Given the description of an element on the screen output the (x, y) to click on. 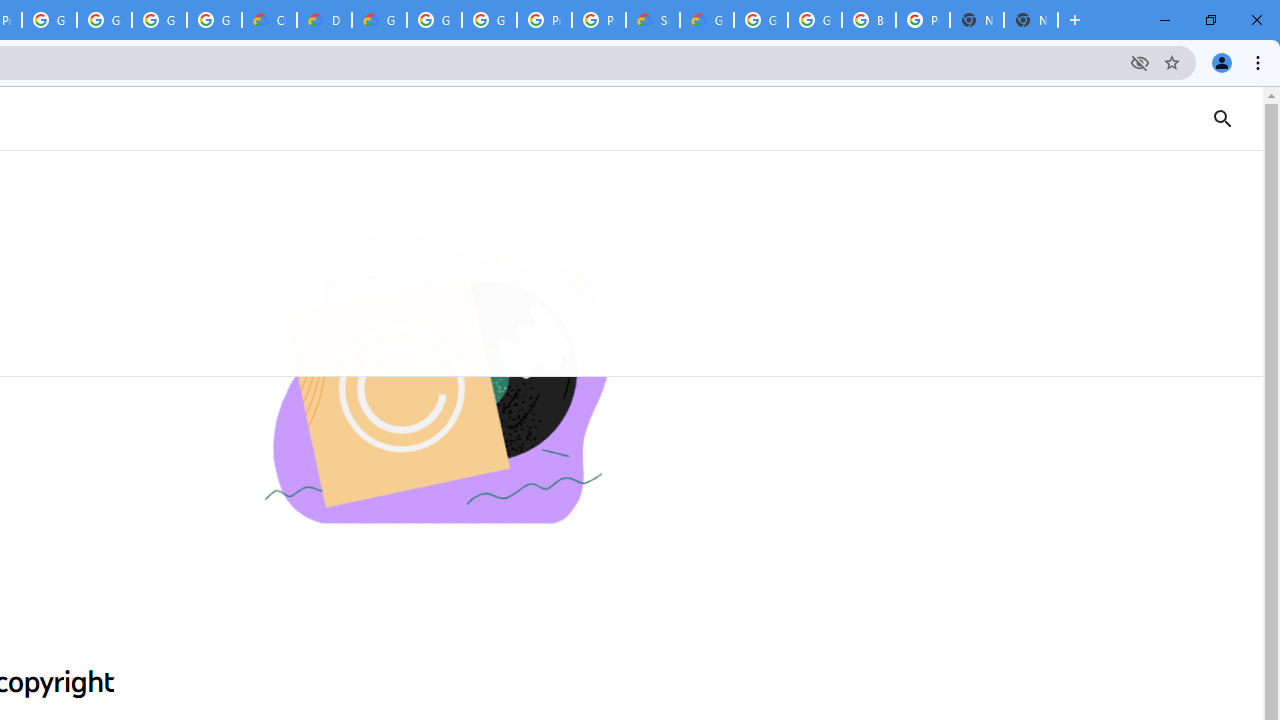
Google Cloud Platform (434, 20)
Search (1248, 117)
Google Cloud Platform (489, 20)
Customer Care | Google Cloud (268, 20)
Search (1222, 118)
Third-party cookies blocked (1139, 62)
New Tab (1030, 20)
